Given the description of an element on the screen output the (x, y) to click on. 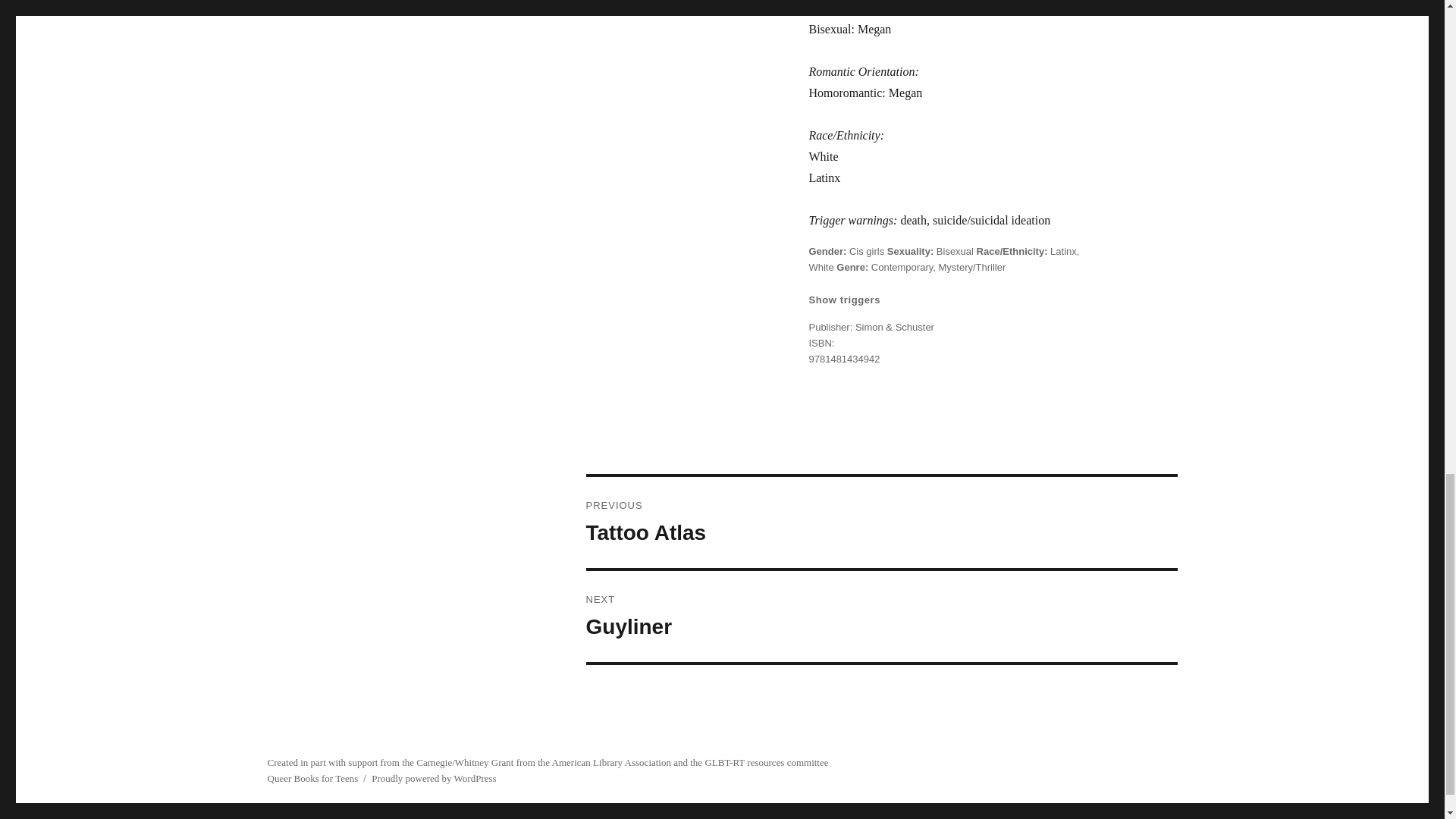
Cis girls (865, 251)
Latinx (1063, 251)
White (820, 266)
Show triggers (844, 300)
Contemporary (901, 266)
Bisexual (955, 251)
